Given the description of an element on the screen output the (x, y) to click on. 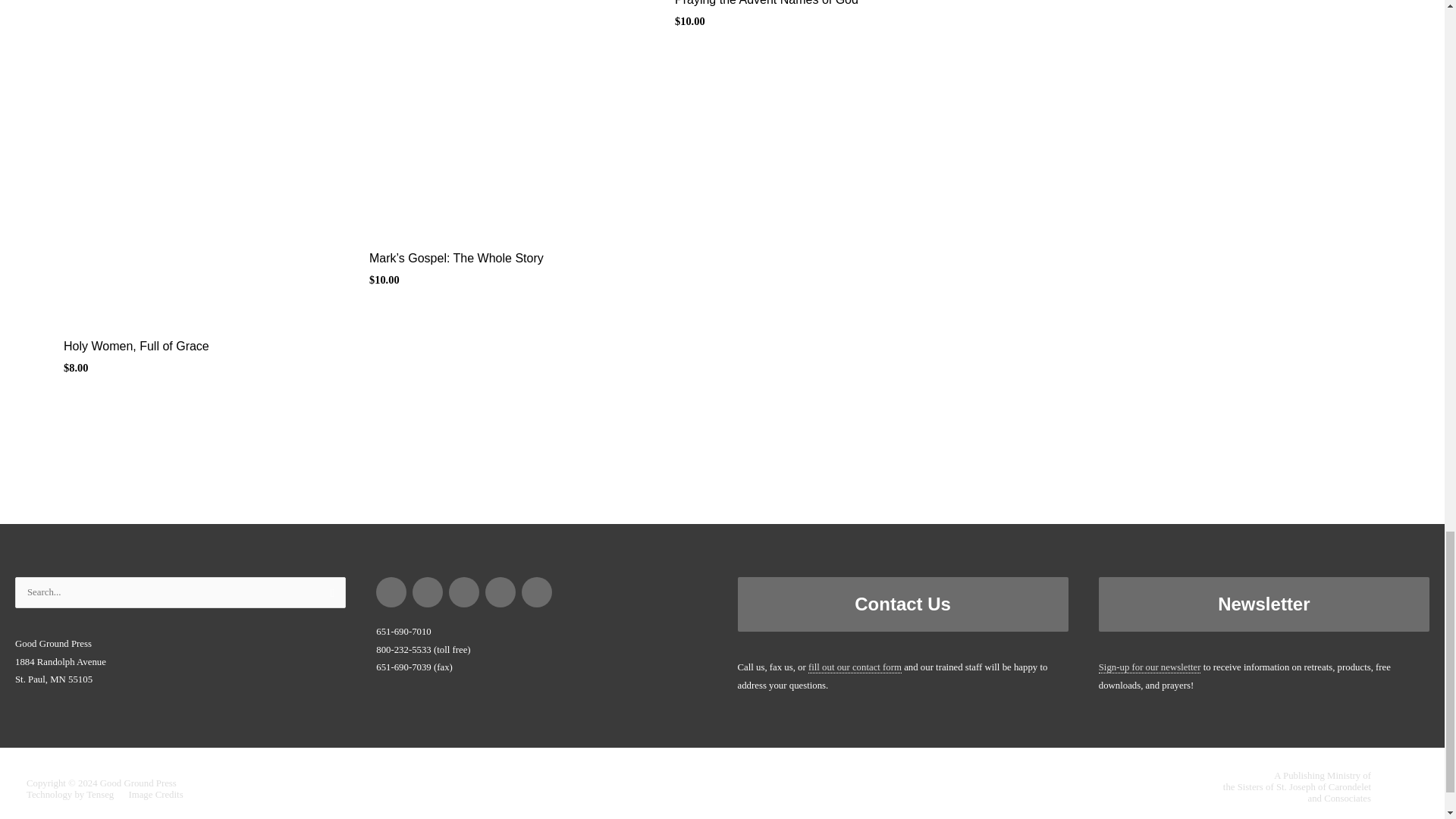
Search (328, 596)
RSS (464, 591)
Pinterest (427, 591)
Twitter (500, 591)
Search (328, 596)
Facebook (391, 591)
YouTube (536, 591)
